Given the description of an element on the screen output the (x, y) to click on. 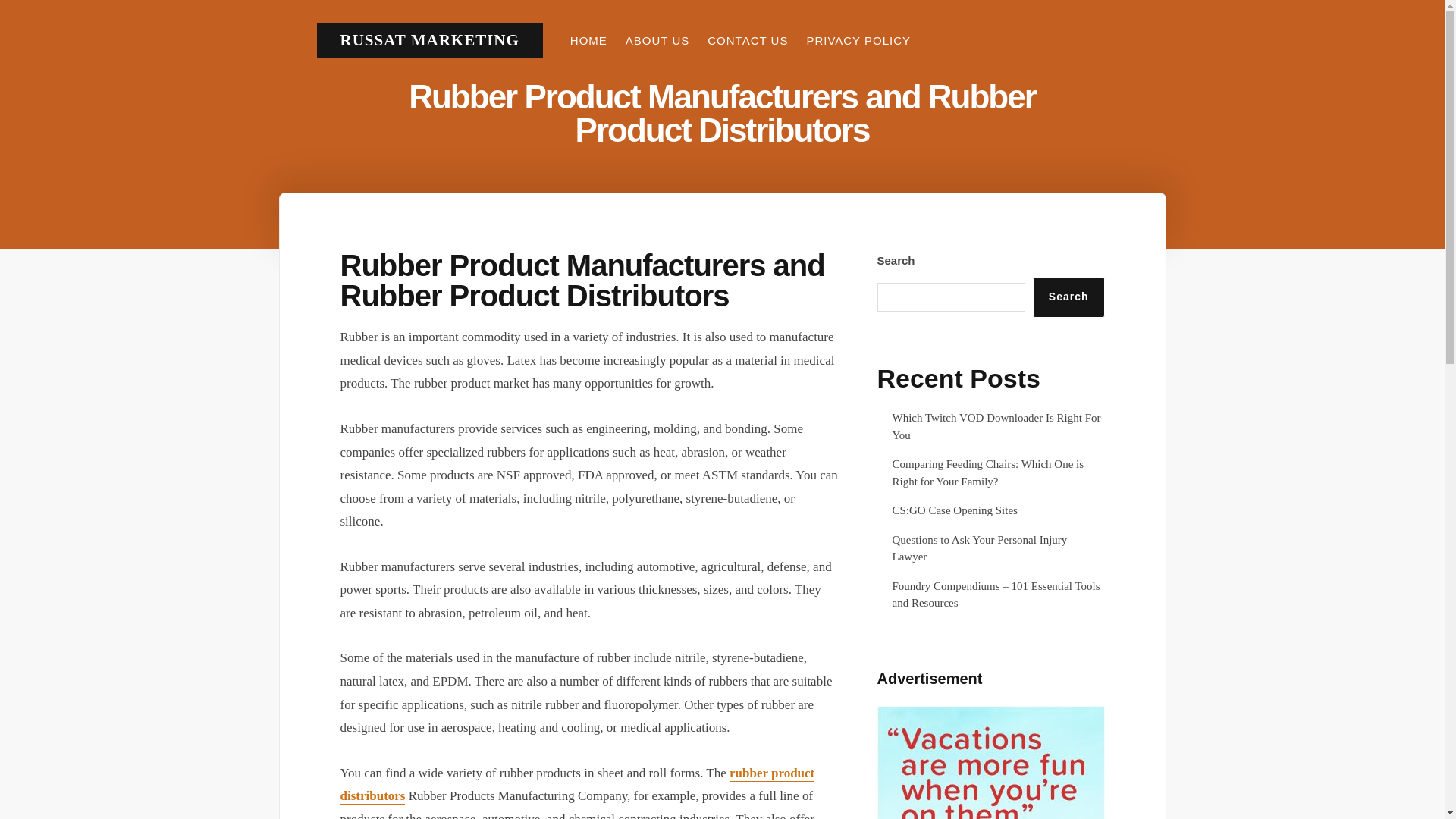
rubber product distributors (576, 785)
PRIVACY POLICY (857, 40)
CS:GO Case Opening Sites (953, 510)
CONTACT US (747, 40)
HOME (588, 40)
ABOUT US (657, 40)
Search (1068, 296)
Questions to Ask Your Personal Injury Lawyer (979, 548)
Which Twitch VOD Downloader Is Right For You (995, 426)
